Given the description of an element on the screen output the (x, y) to click on. 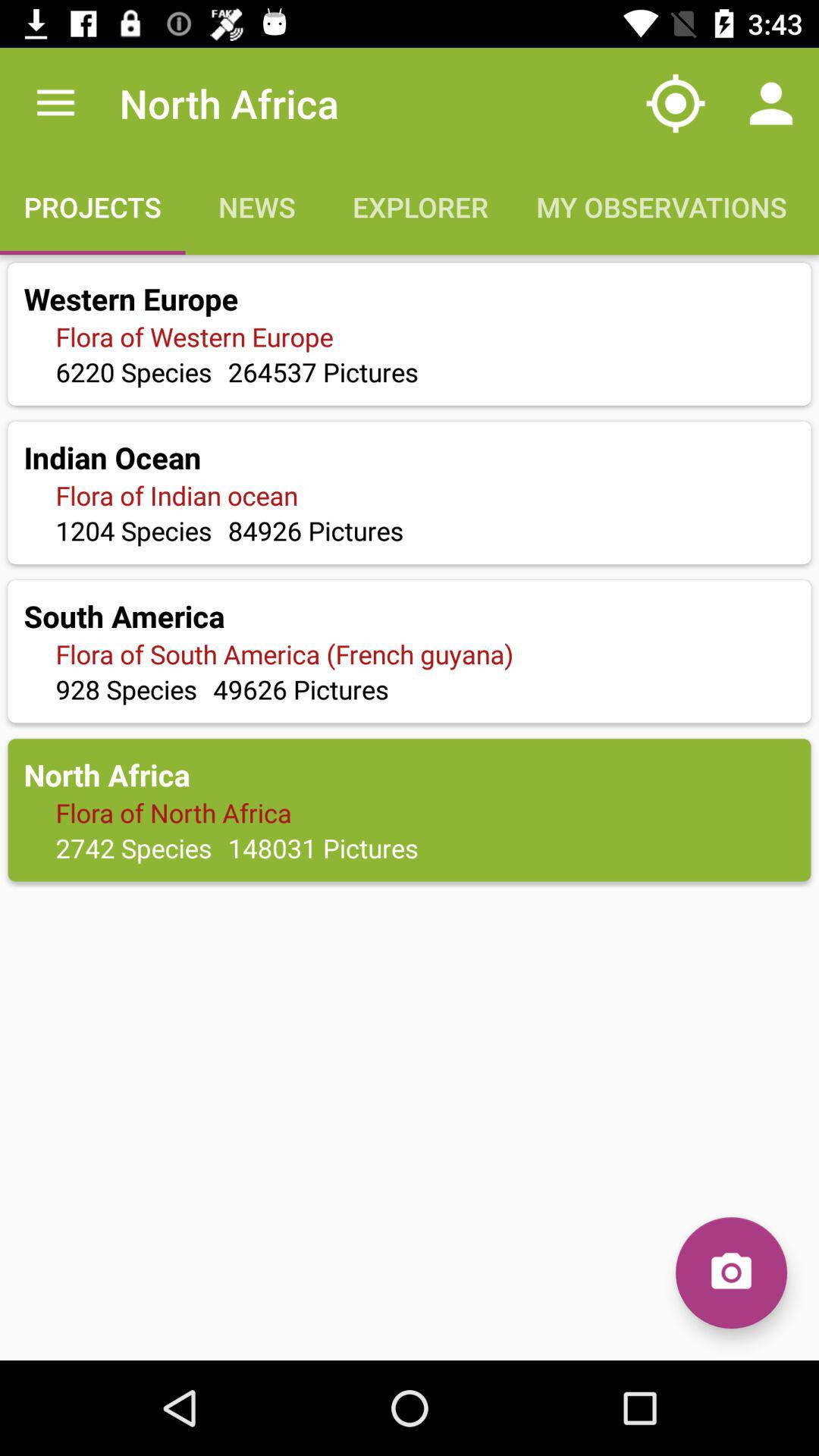
turn on the app to the left of the north africa (55, 103)
